Given the description of an element on the screen output the (x, y) to click on. 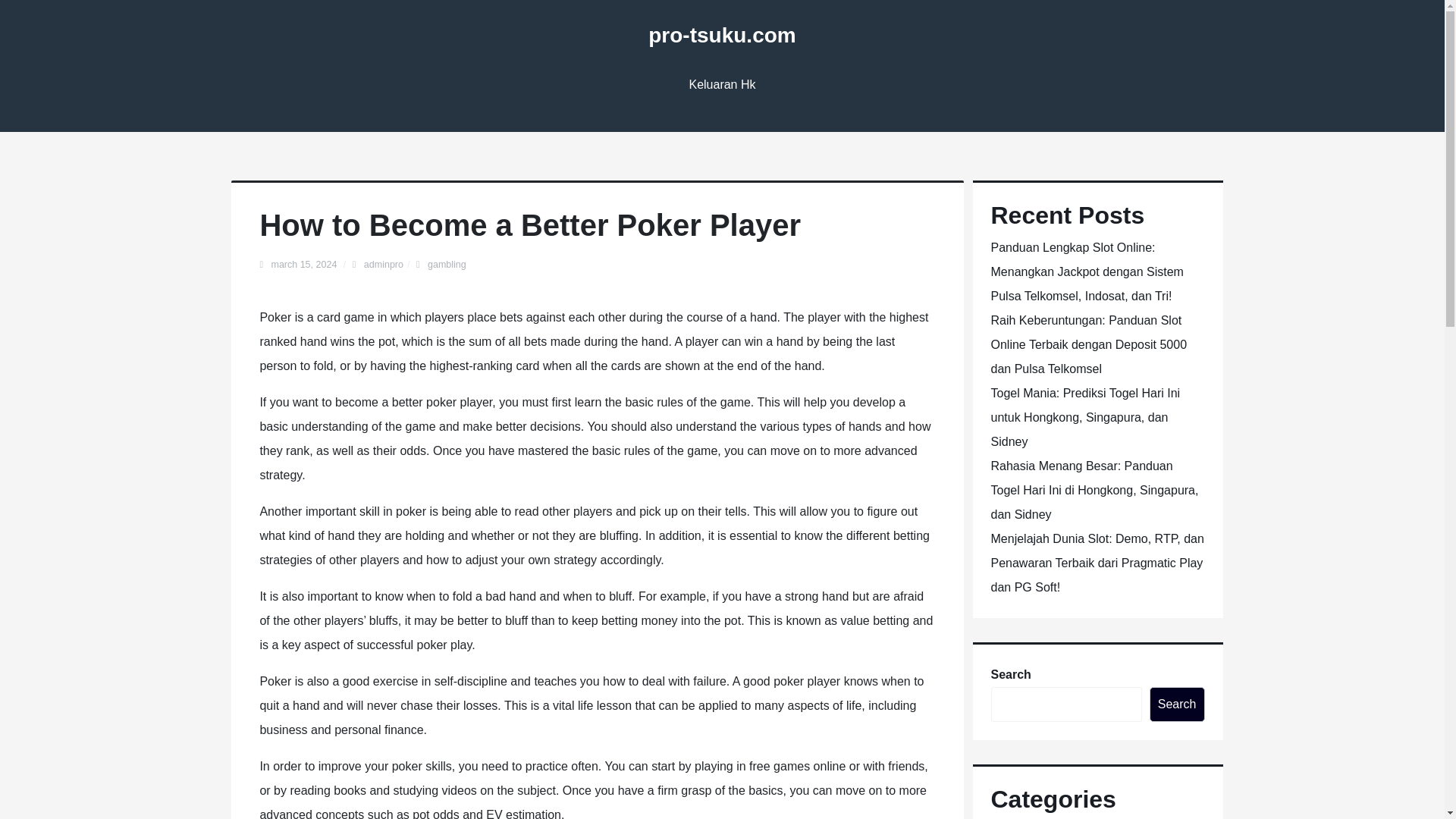
gambling (446, 264)
pro-tsuku.com (720, 34)
march 15, 2024 (304, 264)
adminpro (383, 264)
Keluaran Hk (721, 84)
Keluaran Hk (721, 84)
Search (1177, 704)
